Given the description of an element on the screen output the (x, y) to click on. 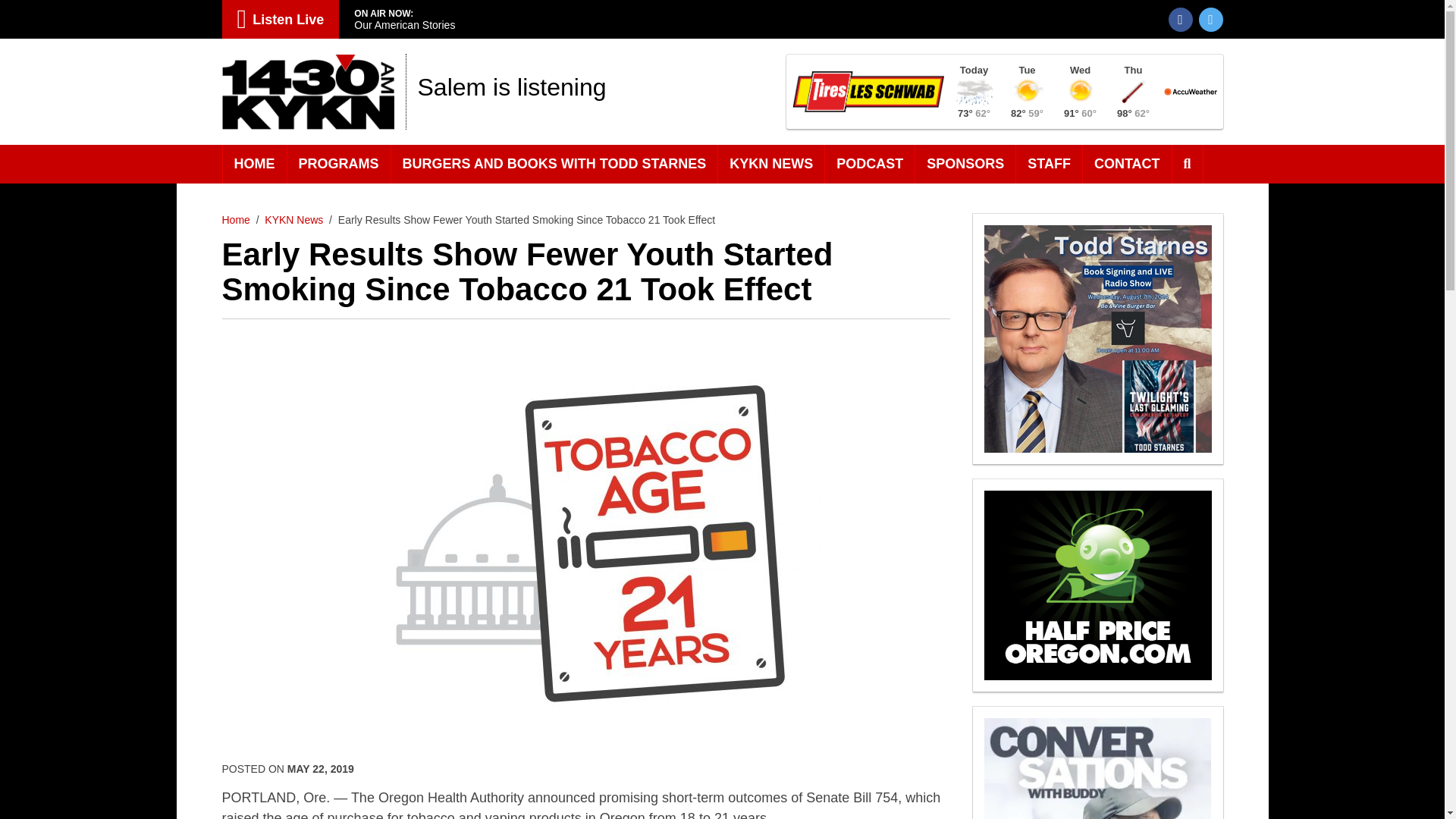
Partly sunny (1026, 91)
Home (234, 219)
CONTACT (1127, 163)
Twitter (1210, 19)
Hot (1132, 91)
HOME (253, 163)
Showers (972, 91)
PODCAST (870, 163)
Listen Live (280, 19)
PROGRAMS (338, 163)
KYKN News (293, 219)
STAFF (1049, 163)
Facebook (1179, 19)
SPONSORS (965, 163)
BURGERS AND BOOKS WITH TODD STARNES (555, 163)
